Given the description of an element on the screen output the (x, y) to click on. 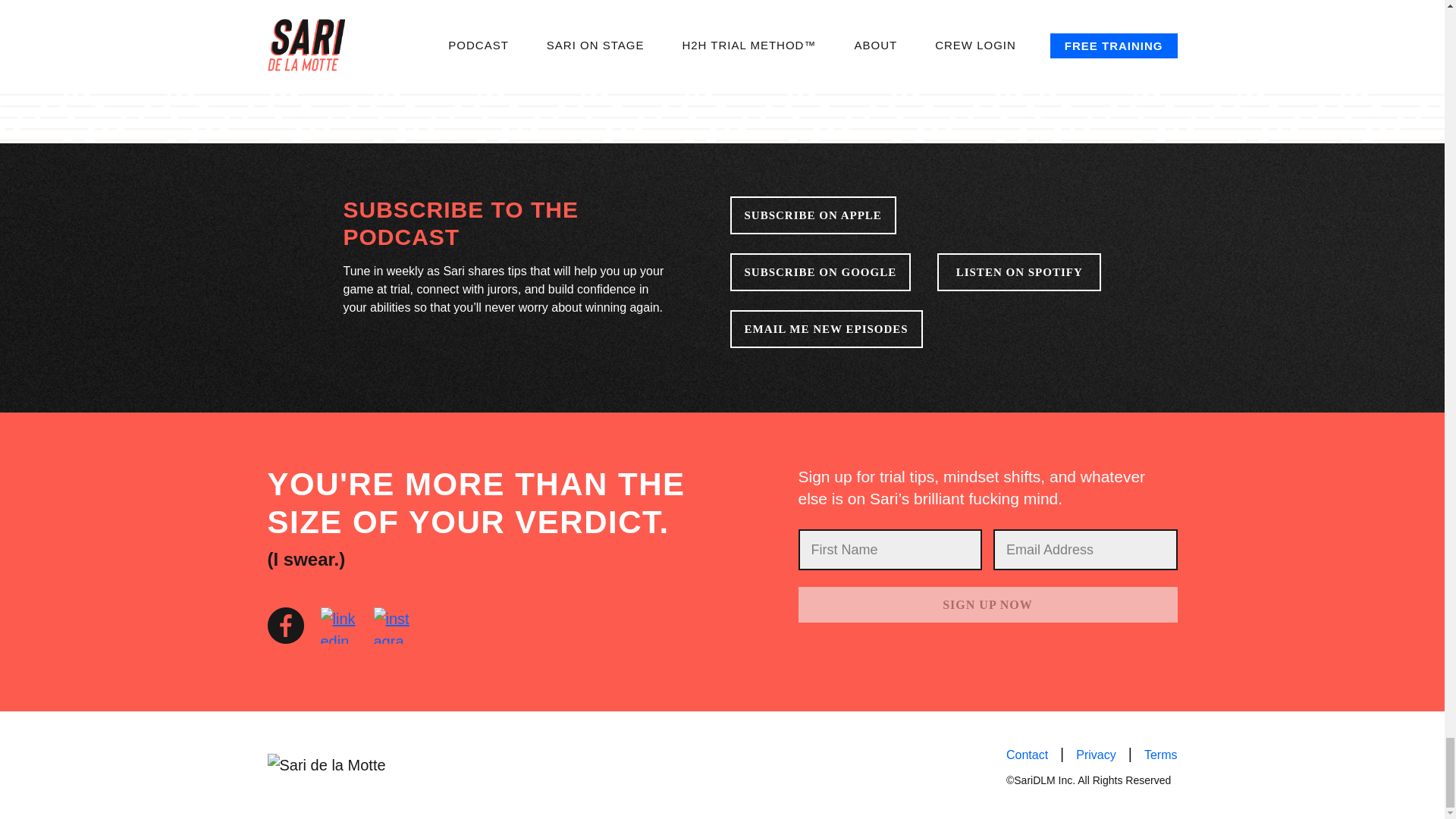
Sign Up Now (986, 604)
SUBSCRIBE ON GOOGLE (820, 272)
EMAIL ME NEW EPISODES (825, 329)
LISTEN ON SPOTIFY (1018, 272)
DOWNLOAD NOW (908, 36)
SUBSCRIBE ON APPLE (812, 215)
